Given the description of an element on the screen output the (x, y) to click on. 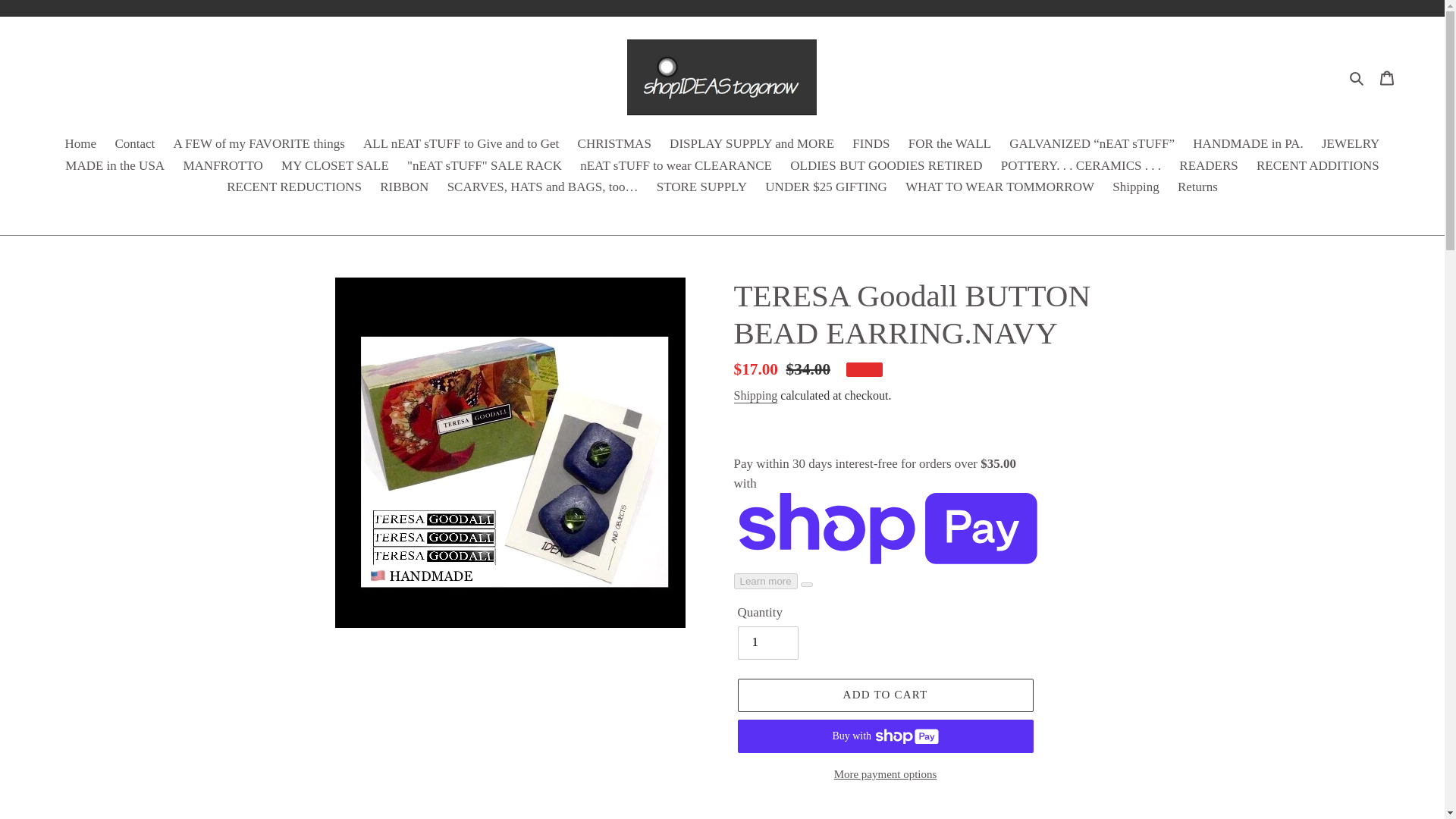
Home (81, 145)
Contact (133, 145)
Cart (1387, 77)
Search (1357, 76)
1 (766, 643)
